Given the description of an element on the screen output the (x, y) to click on. 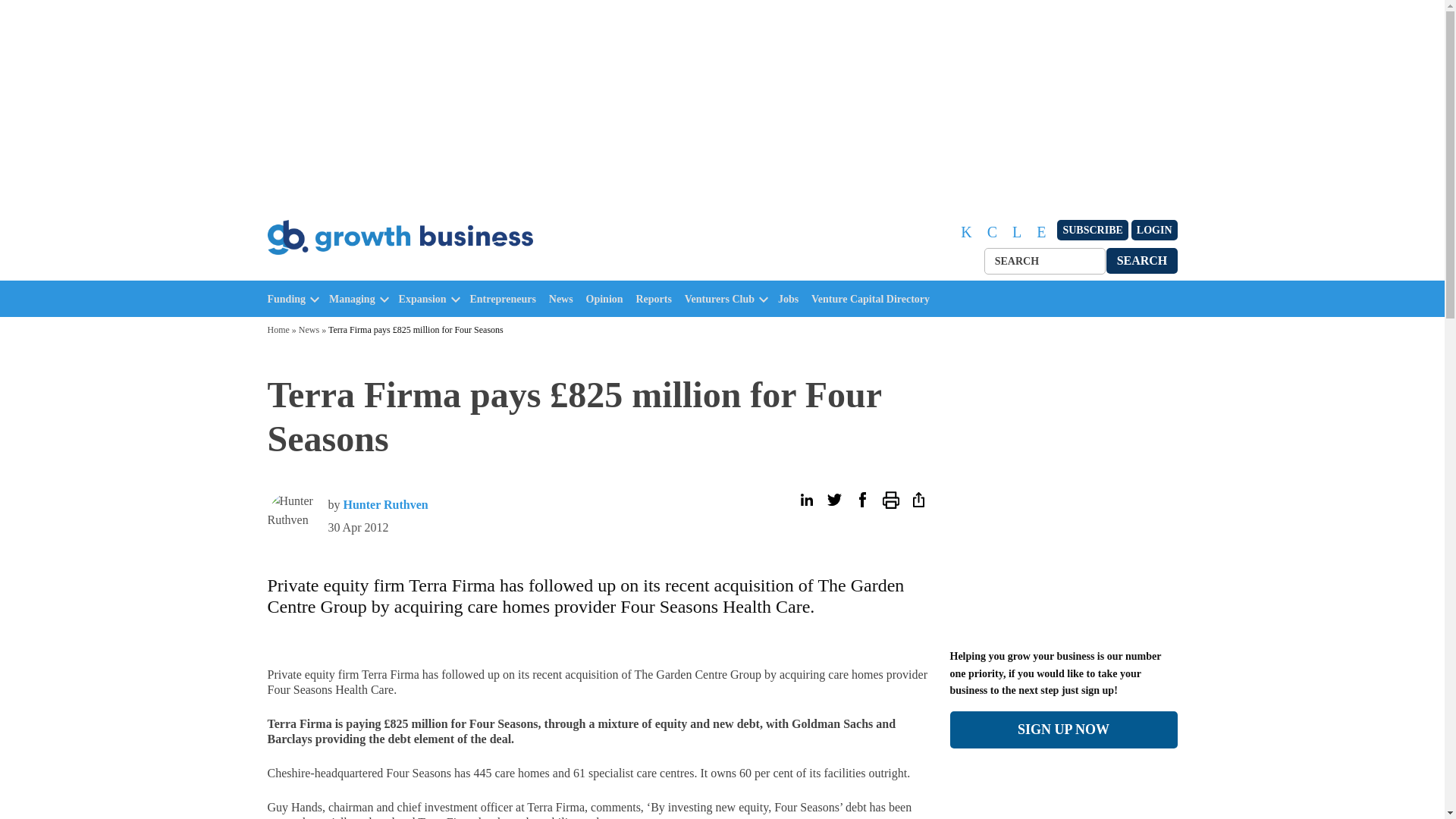
Tweet this article (835, 499)
Reports (656, 298)
Funding (285, 298)
Managing (352, 298)
LOGIN (1154, 230)
Share on Facebook (861, 499)
Growth Business (332, 271)
Print this article (890, 499)
Entrepreneurs (506, 298)
Opinion (608, 298)
